Given the description of an element on the screen output the (x, y) to click on. 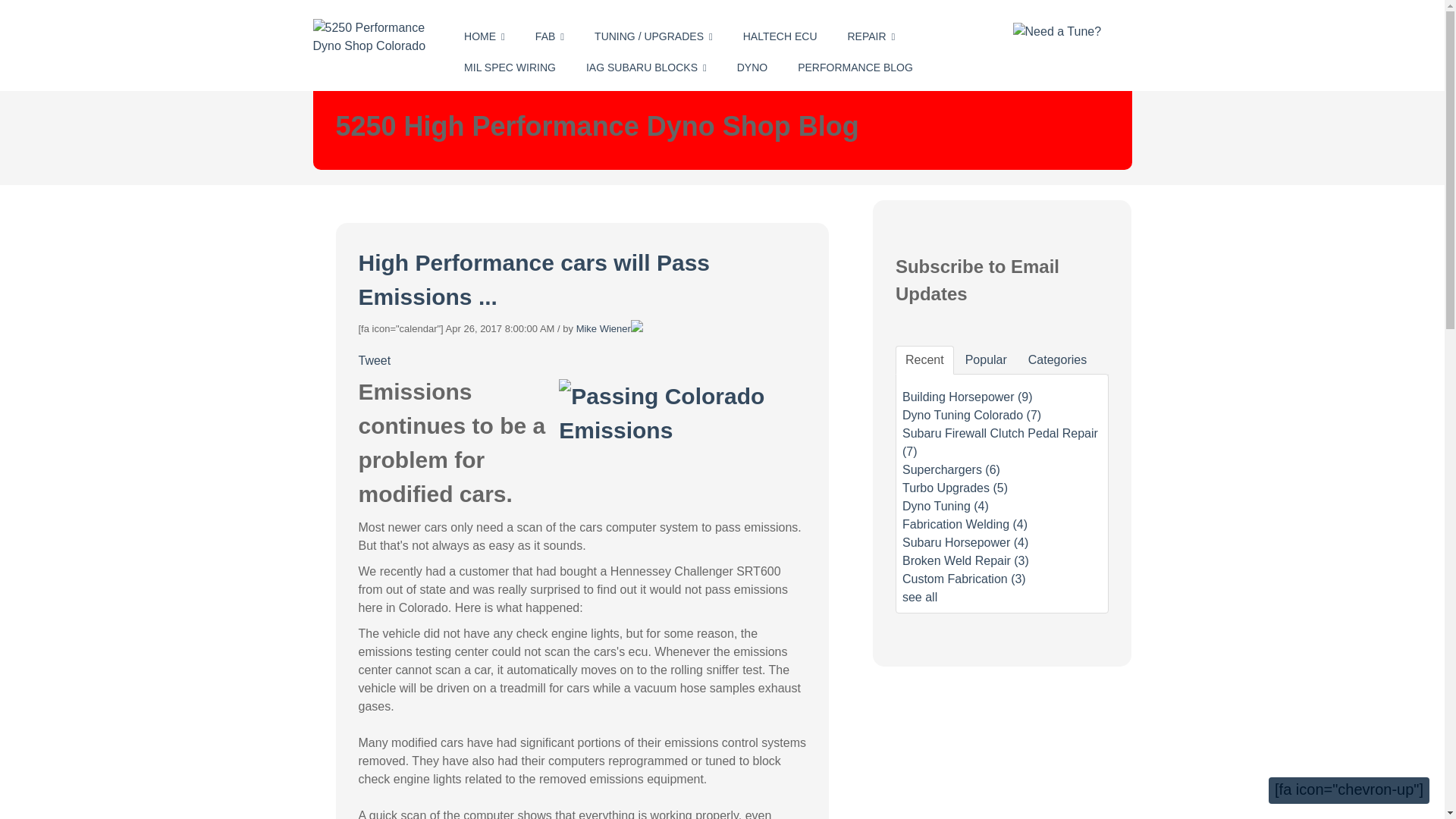
5250 Performance Dyno Shop Colorado (371, 36)
Popular (985, 359)
MIL SPEC WIRING (509, 67)
Passing Colorado Emissions (680, 413)
REPAIR (870, 36)
HALTECH ECU (780, 36)
IAG SUBARU BLOCKS (646, 67)
HOME (484, 36)
Categories (1056, 359)
High Performance cars will Pass Emissions ... (534, 279)
PERFORMANCE BLOG (855, 67)
Mike Wiener (603, 328)
FAB (549, 36)
Tweet (374, 359)
Recent (924, 359)
